Given the description of an element on the screen output the (x, y) to click on. 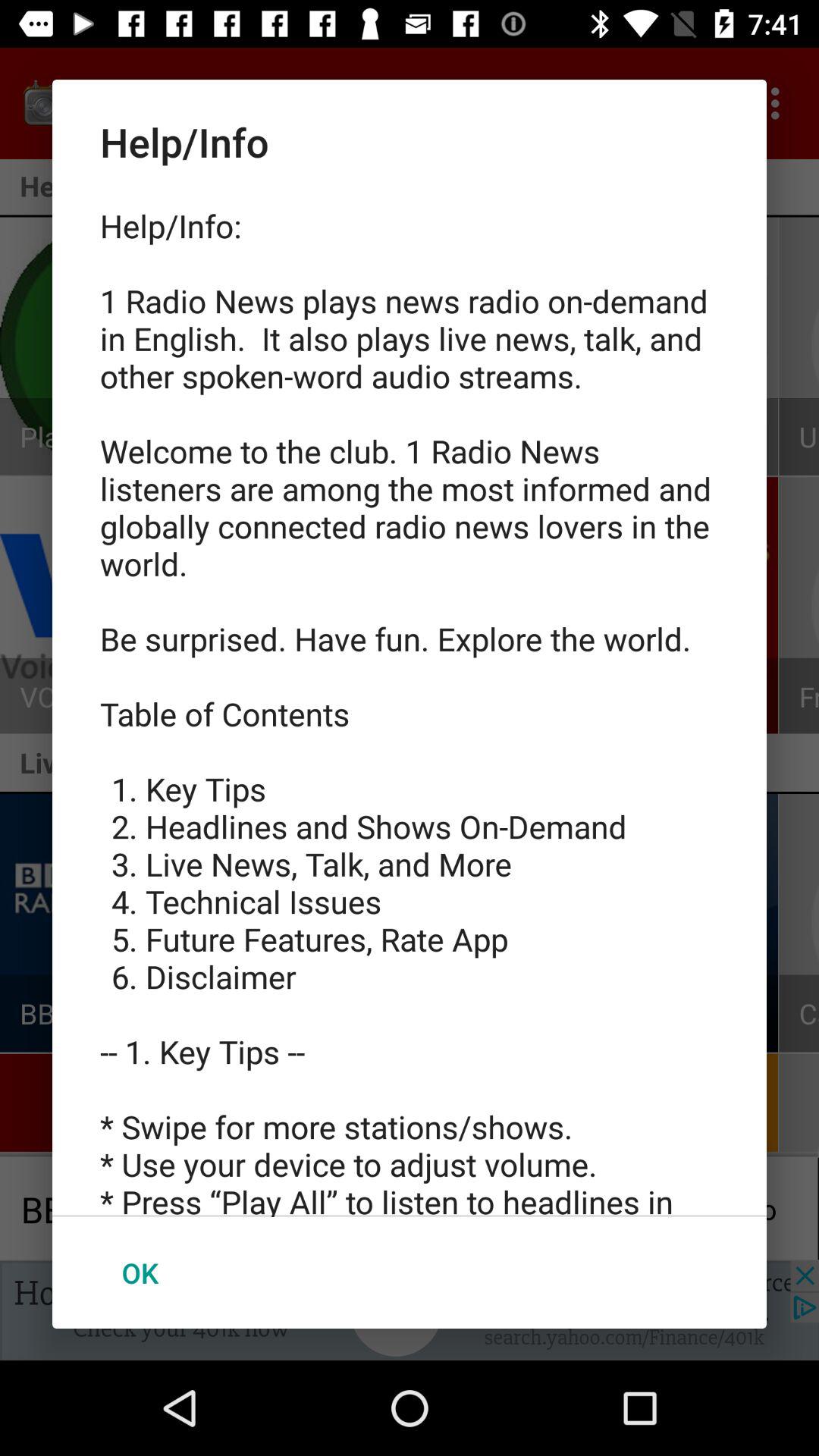
turn off ok item (139, 1272)
